Given the description of an element on the screen output the (x, y) to click on. 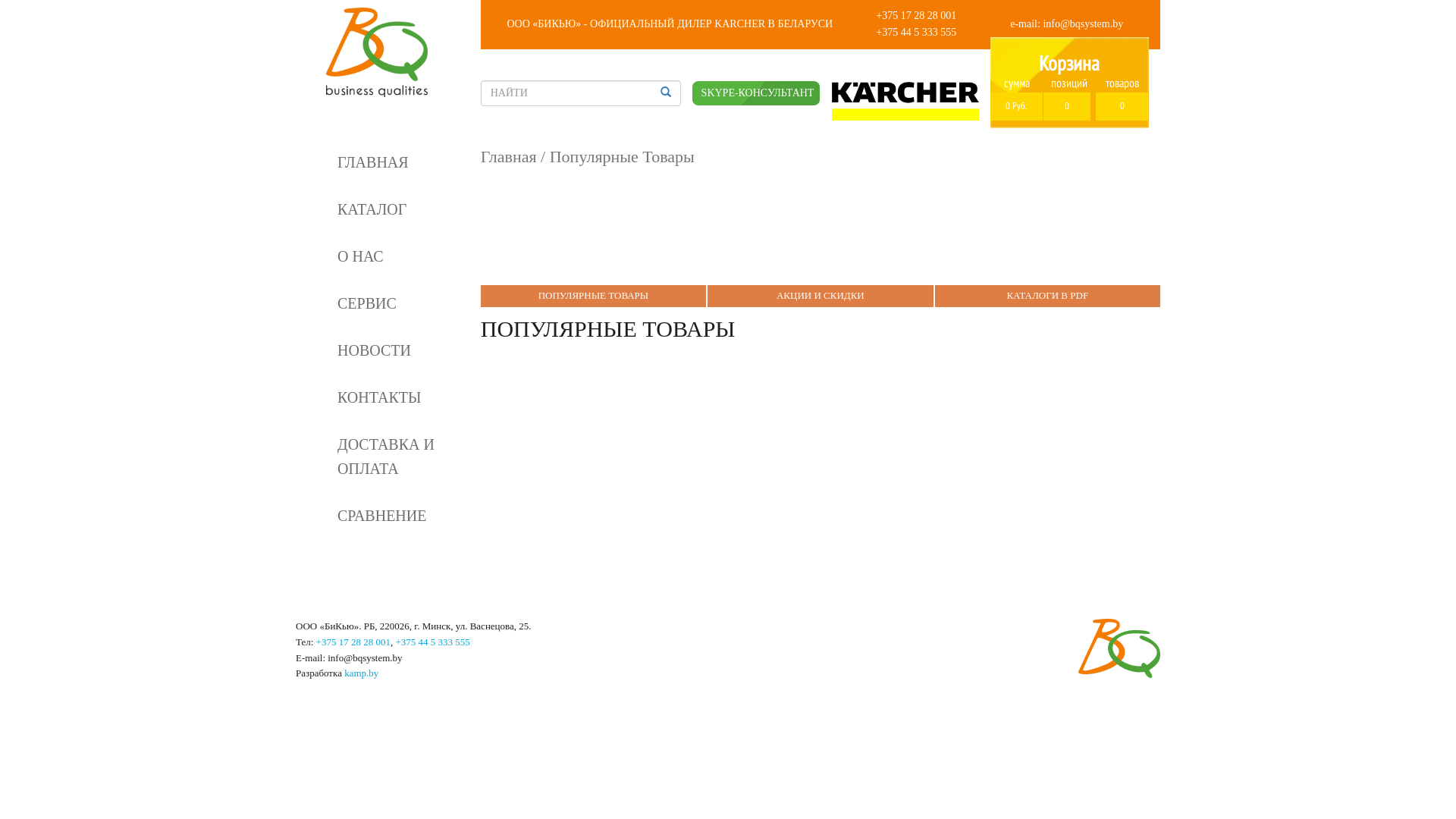
+375 44 5 333 555 Element type: text (915, 31)
+375 17 28 28 001 Element type: text (915, 15)
  Element type: hover (665, 93)
info@bqsystem.by Element type: text (1082, 23)
+375 17 28 28 001 Element type: text (353, 641)
+375 44 5 333 555 Element type: text (432, 641)
kamp.by Element type: text (361, 672)
